Given the description of an element on the screen output the (x, y) to click on. 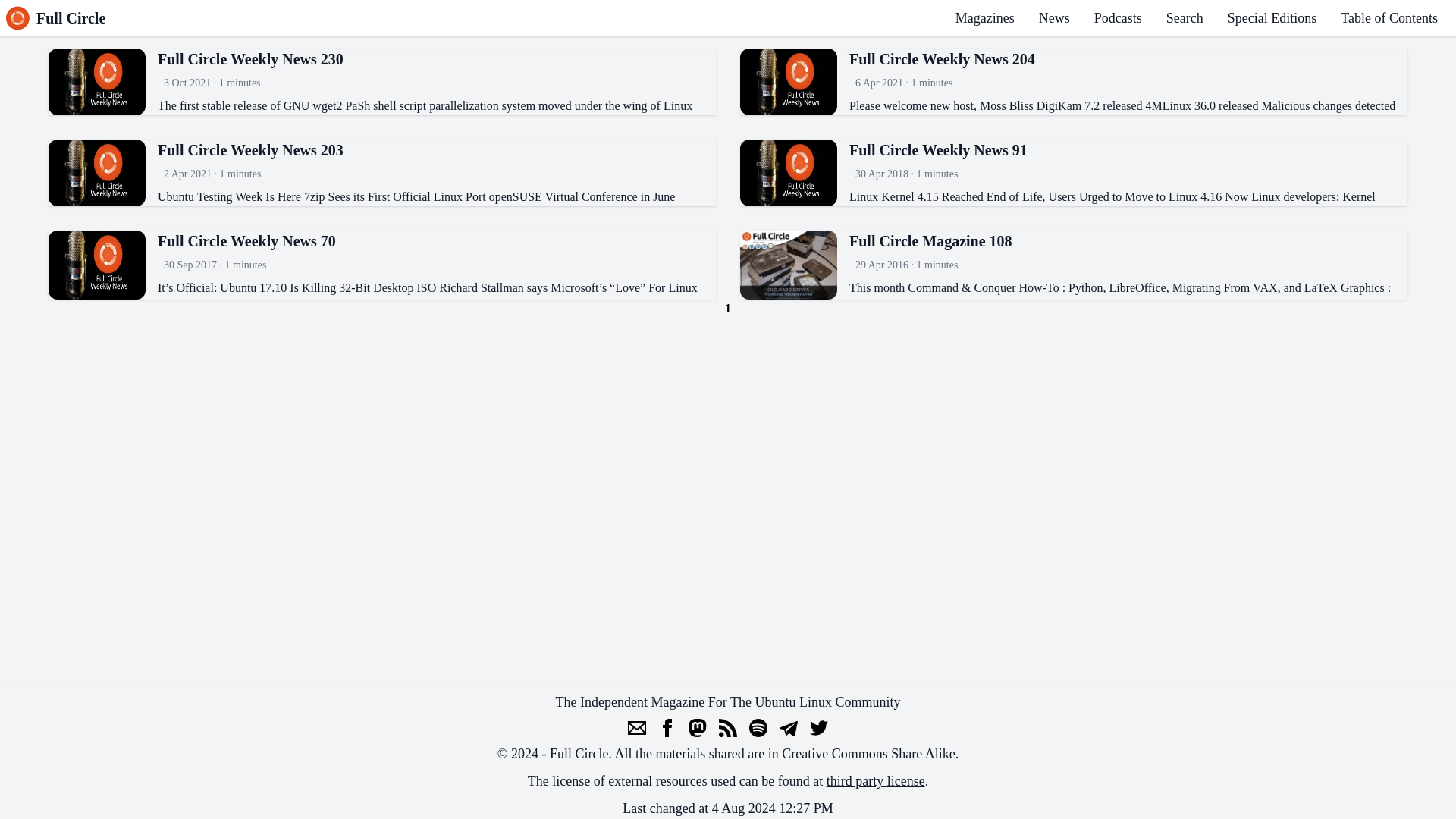
Full Circle Weekly News 204 (1127, 58)
Full Circle Magazine 108 (1127, 240)
News (1054, 17)
Search (1185, 17)
Full Circle Weekly News 230 (436, 58)
Full Circle Weekly News 203 (436, 149)
third party license (875, 780)
Special Editions (1271, 17)
Full Circle (54, 17)
Magazines (984, 17)
Table of Contents (1389, 17)
Full Circle Weekly News 91 (1127, 149)
Full Circle Weekly News 70 (436, 240)
Podcasts (1117, 17)
